Given the description of an element on the screen output the (x, y) to click on. 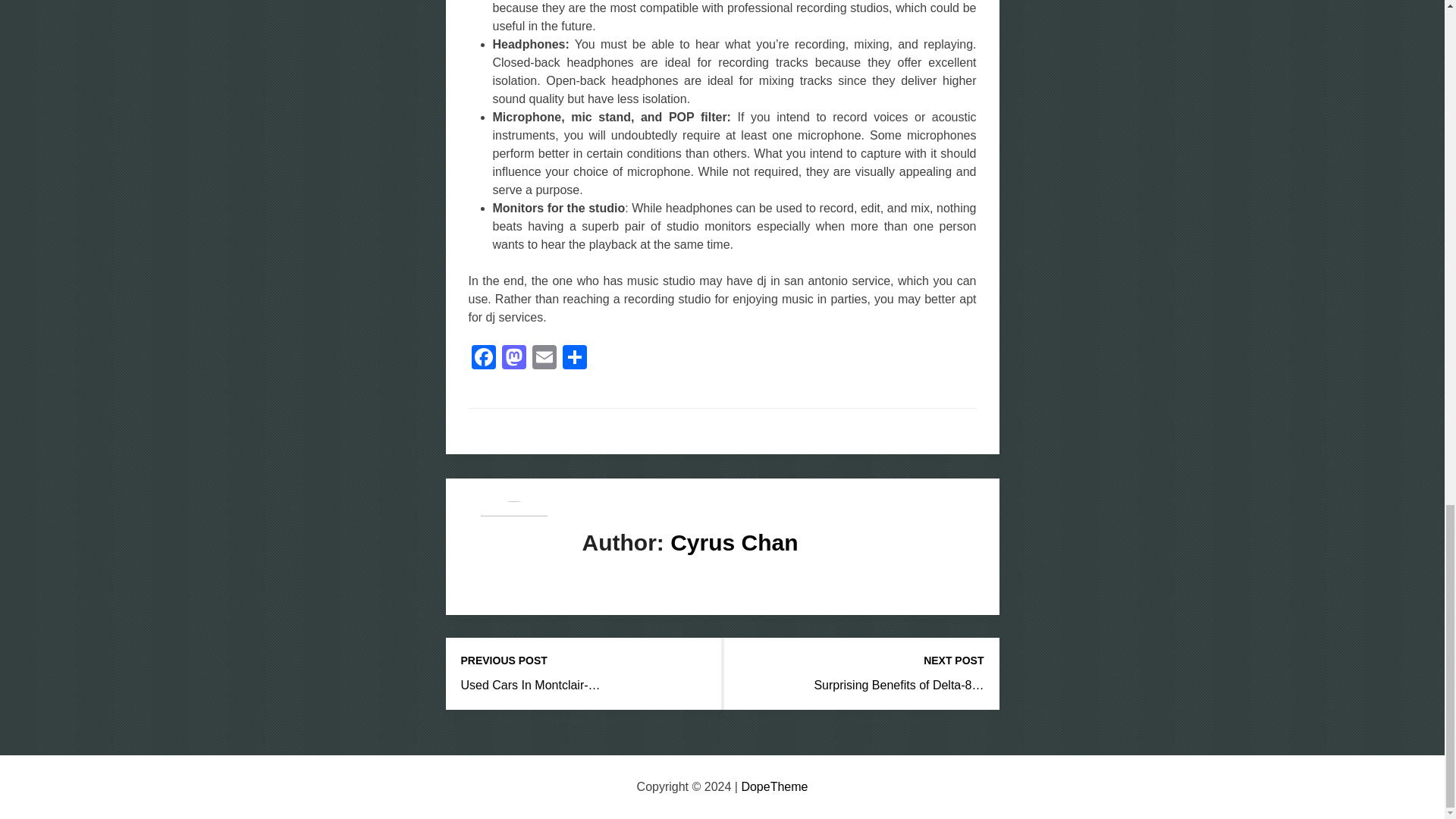
Used Cars In Montclair- Tips And Suggestions (530, 684)
Share (574, 358)
Facebook (483, 358)
Mastodon (514, 358)
NEXT POST (861, 660)
Email (544, 358)
Facebook (483, 358)
Surprising Benefits of Delta-8 THC Gummies (898, 684)
DopeTheme (774, 786)
Mastodon (514, 358)
Email (544, 358)
Cyrus Chan (733, 542)
PREVIOUS POST (583, 660)
